Given the description of an element on the screen output the (x, y) to click on. 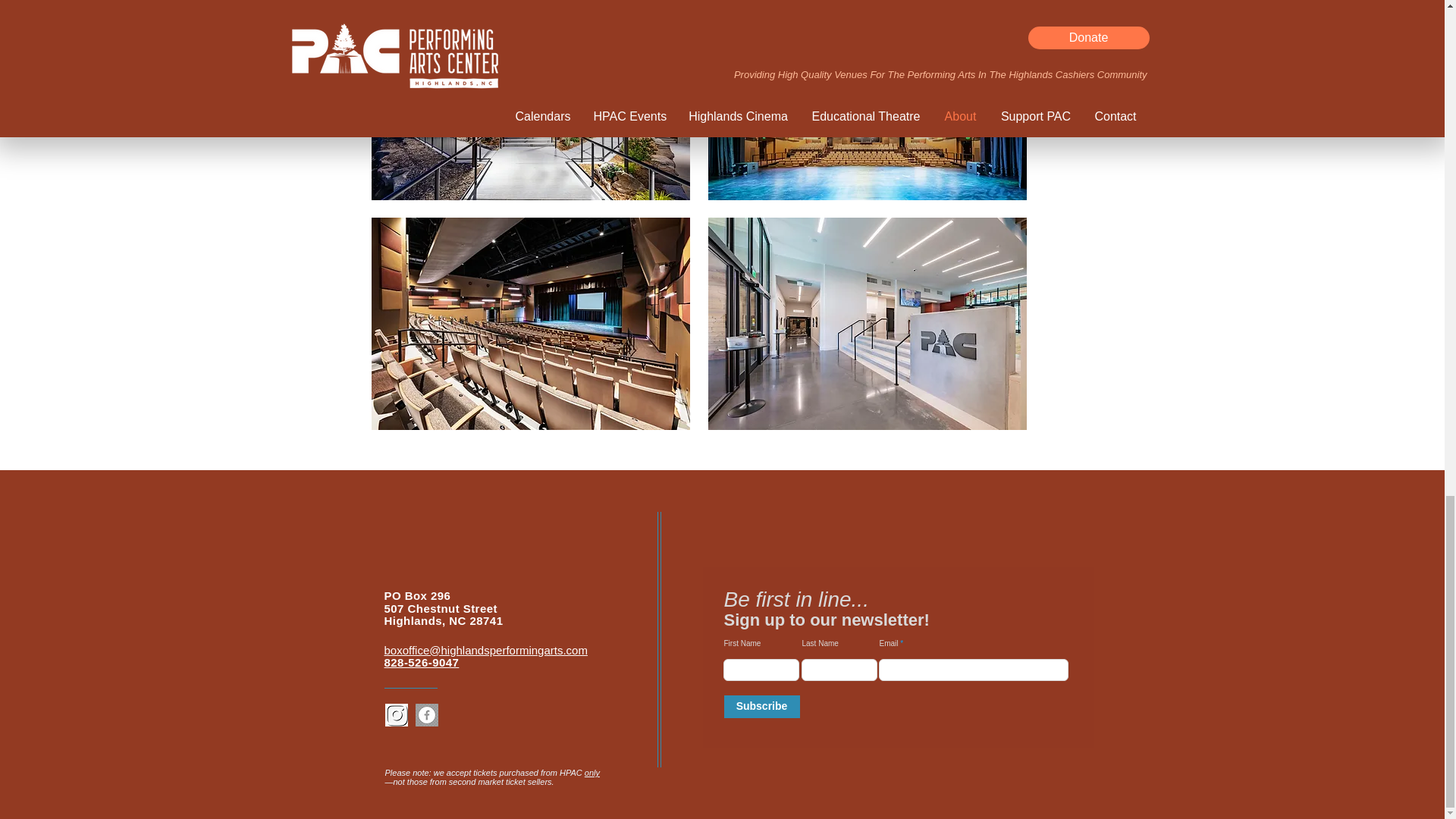
Please note: we accept tickets purchased from HPAC  (485, 772)
only (592, 772)
10.06.2022 HighlandPAC-052-interior red  (866, 99)
828-526-9047 (421, 662)
Subscribe (761, 706)
